Given the description of an element on the screen output the (x, y) to click on. 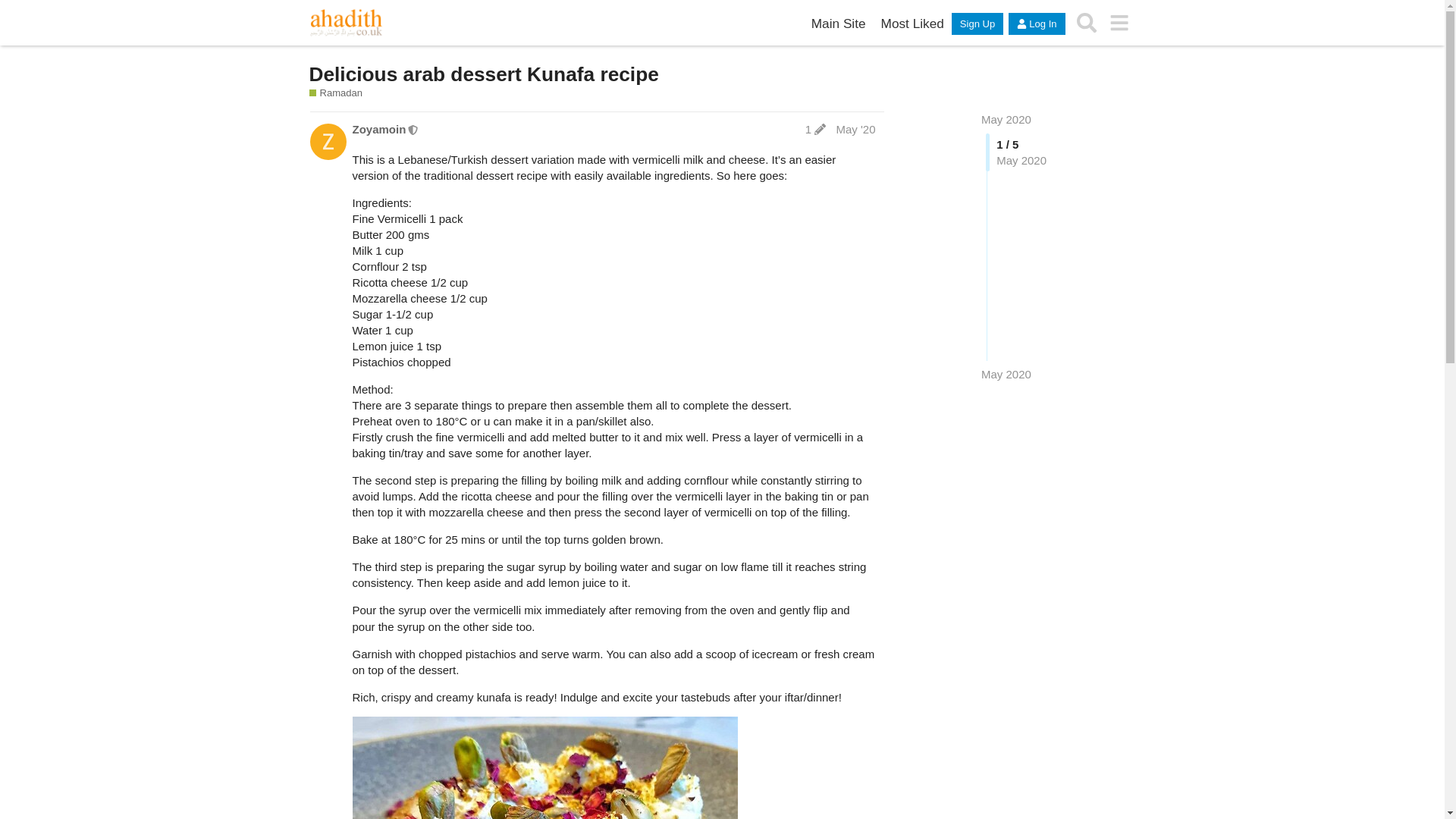
May 2020 (1005, 374)
Ramadan (335, 92)
menu (1119, 22)
May 2020 (1005, 119)
Zoyamoin (379, 129)
Delicious arab dessert Kunafa recipe (483, 74)
Log In (1036, 24)
1 (814, 128)
Main Site (838, 23)
Post date (855, 128)
